Given the description of an element on the screen output the (x, y) to click on. 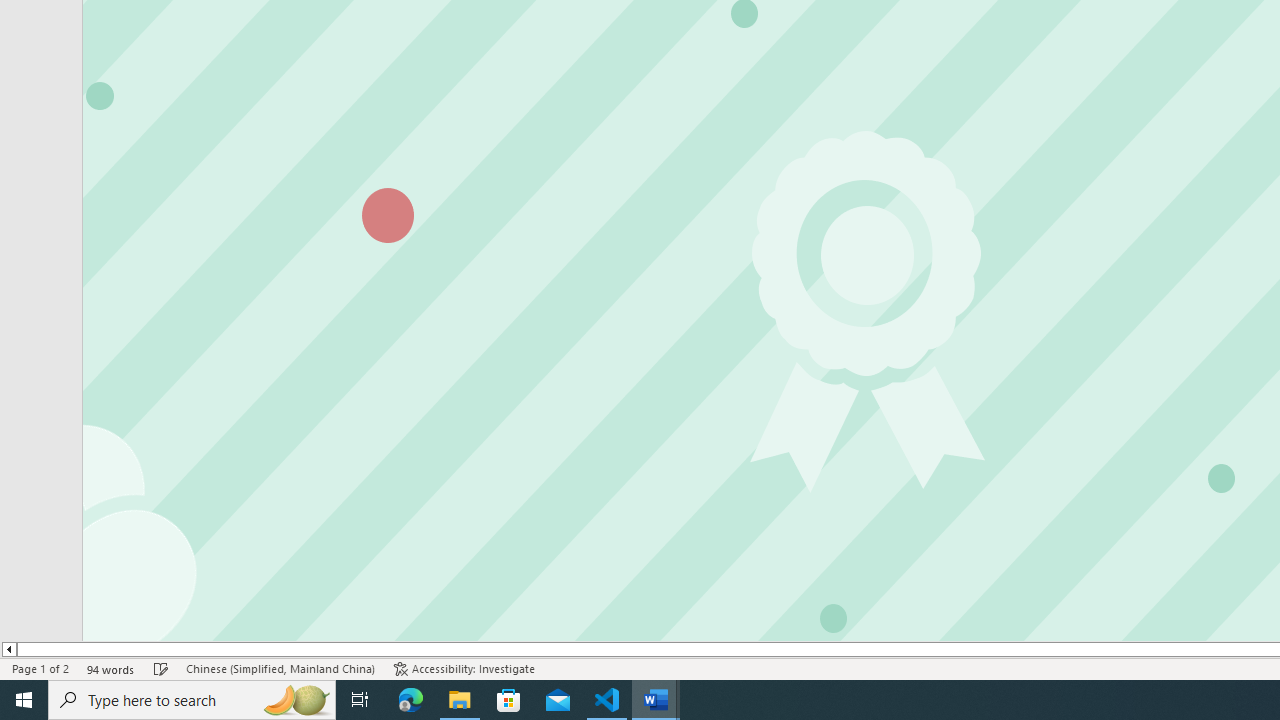
Column left (8, 649)
Spelling and Grammar Check Checking (161, 668)
Word Count 94 words (111, 668)
Page Number Page 1 of 2 (39, 668)
